Given the description of an element on the screen output the (x, y) to click on. 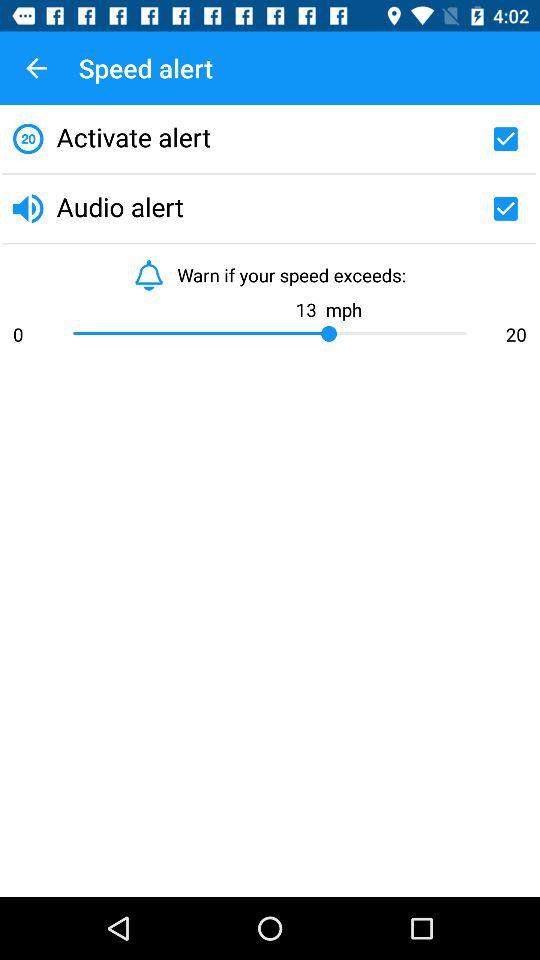
turn off the item to the left of the speed alert icon (36, 68)
